Given the description of an element on the screen output the (x, y) to click on. 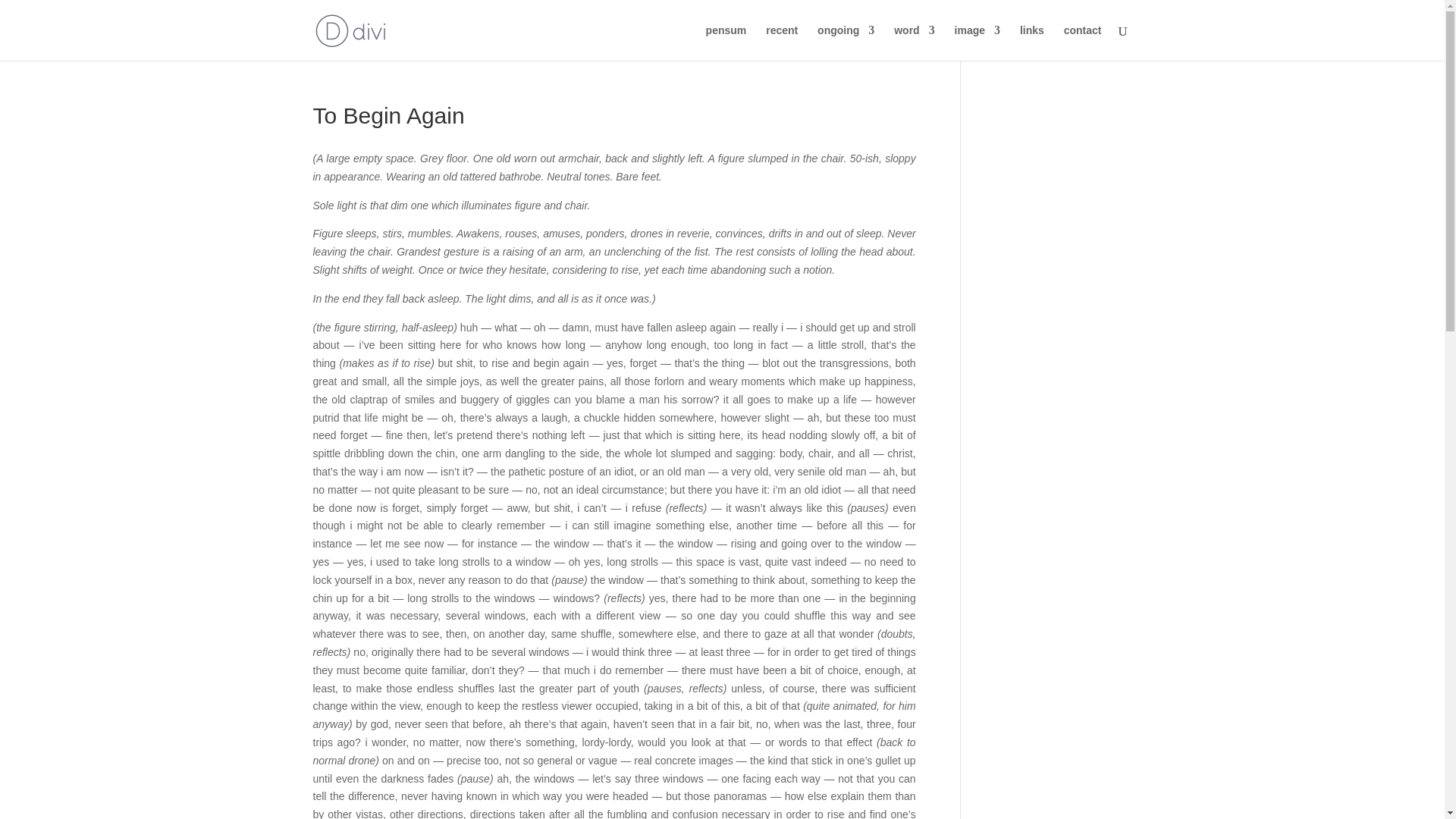
pensum (726, 42)
image (977, 42)
word (913, 42)
ongoing (845, 42)
contact (1083, 42)
recent (781, 42)
